Given the description of an element on the screen output the (x, y) to click on. 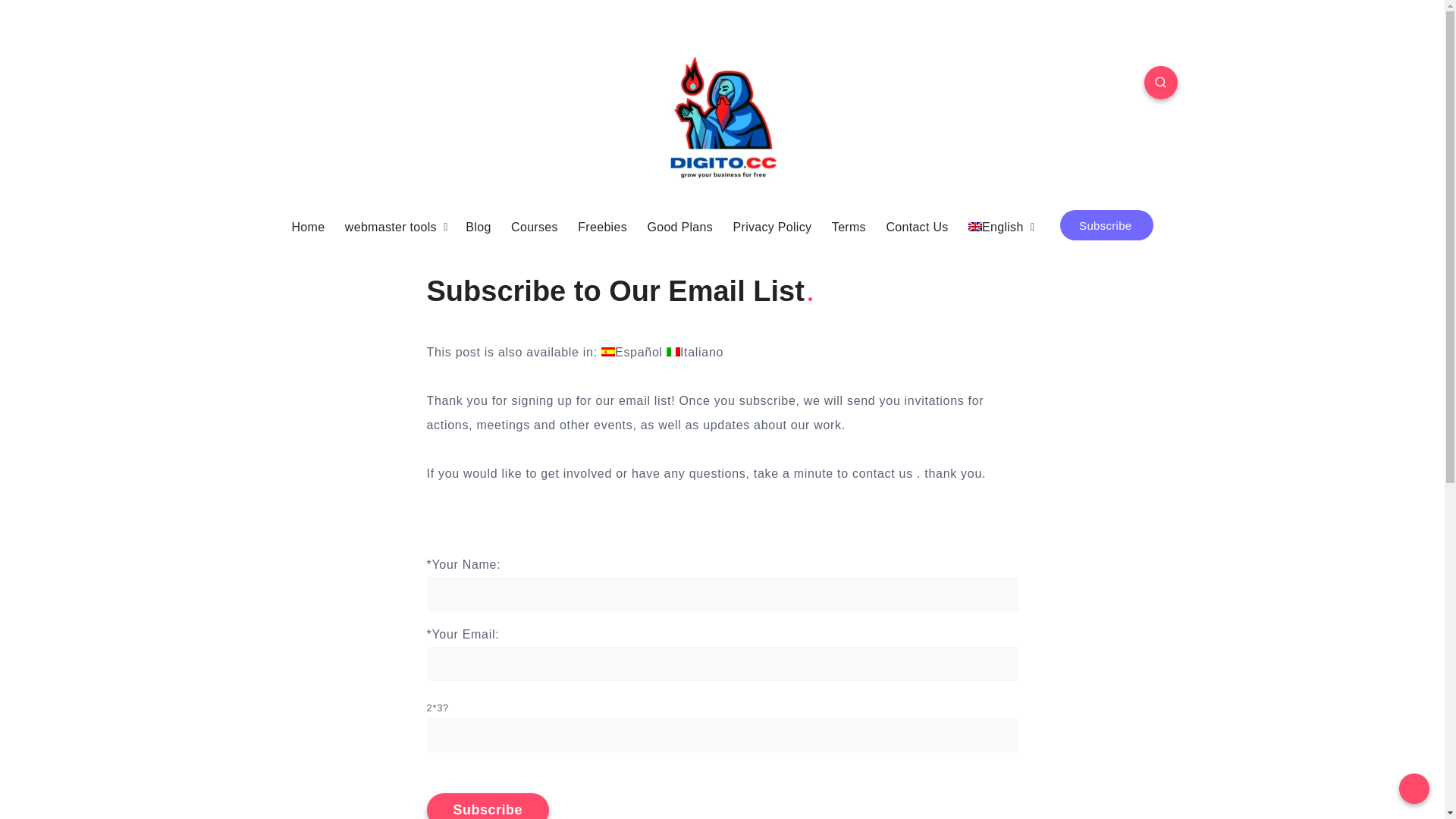
Home Element type: text (307, 227)
English Element type: text (996, 227)
Courses Element type: text (534, 227)
Privacy Policy Element type: text (772, 227)
English Element type: text (995, 227)
webmaster tools Element type: text (390, 227)
webmaster tools Element type: text (391, 227)
Italiano Element type: text (694, 351)
Terms Element type: text (848, 227)
Blog Element type: text (477, 227)
Freebies Element type: text (602, 227)
Subscribe Element type: text (1106, 225)
Contact Us Element type: text (916, 227)
Good Plans Element type: text (679, 227)
